Given the description of an element on the screen output the (x, y) to click on. 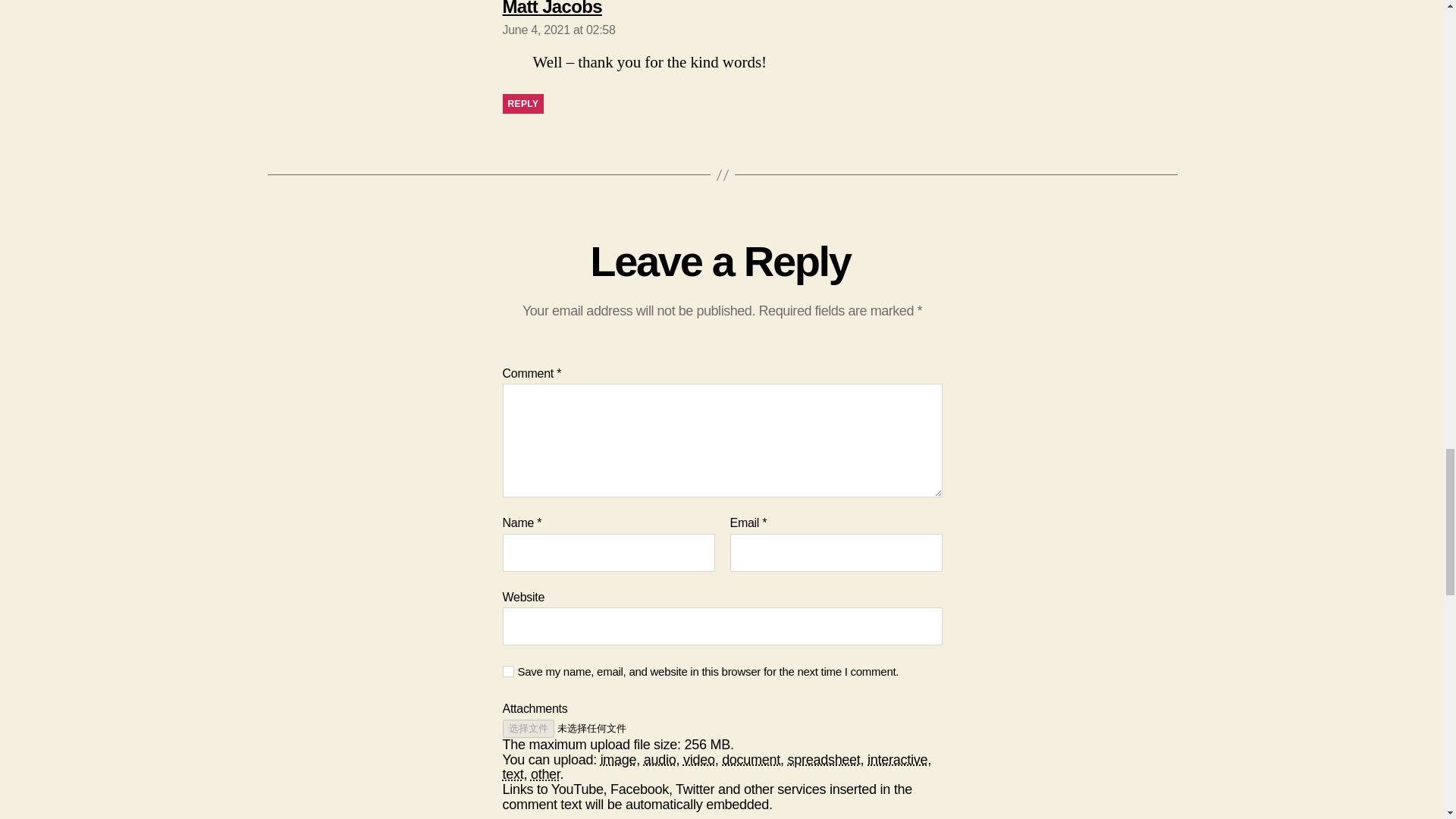
mp3, m4a, m4b, aac, ram, wav, ogg, oga, flac, wma, mka (660, 759)
June 4, 2021 at 02:58 (558, 29)
June 4, 2021 at 02:58 (558, 29)
yes (551, 8)
pps, ppt, pptx, pptm, ppsx, ppsm, sldx, sldm, odp, key (507, 671)
txt, asc, csv, tsv (897, 759)
jpg, jpeg, jpe, gif, png, bmp, tiff, tif, webp, ico, heic (512, 774)
numbers (618, 759)
REPLY (823, 759)
pdf (522, 103)
